Given the description of an element on the screen output the (x, y) to click on. 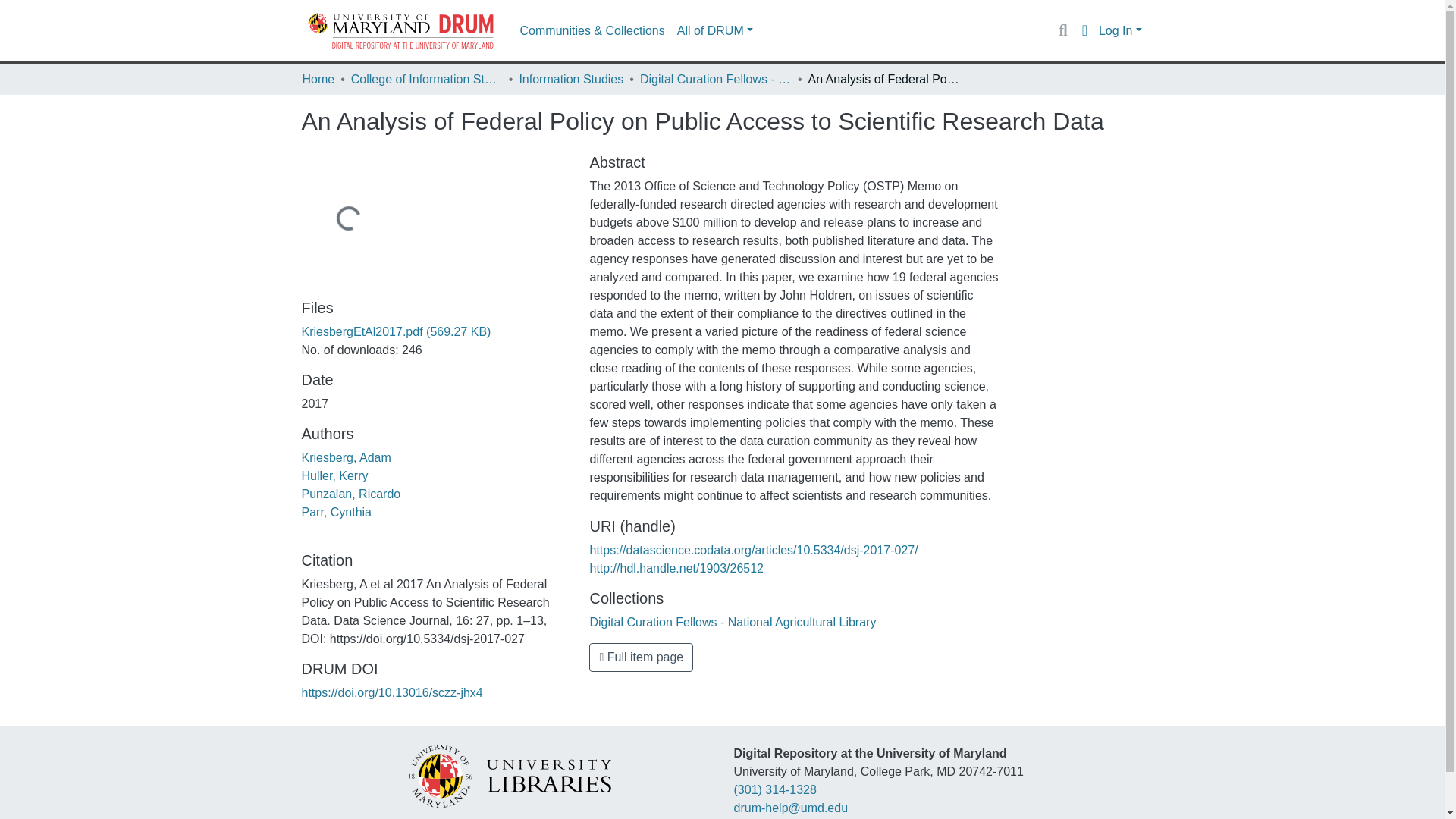
College of Information Studies (426, 79)
Digital Curation Fellows - National Agricultural Library (732, 621)
Parr, Cynthia (336, 512)
Language switch (1084, 30)
Huller, Kerry (334, 475)
Information Studies (570, 79)
All of DRUM (714, 30)
Log In (1119, 30)
Search (1061, 30)
Punzalan, Ricardo (351, 493)
Libraries Home Page (508, 775)
Digital Curation Fellows - National Agricultural Library (716, 79)
Home (317, 79)
Kriesberg, Adam (346, 457)
Full item page (641, 656)
